Given the description of an element on the screen output the (x, y) to click on. 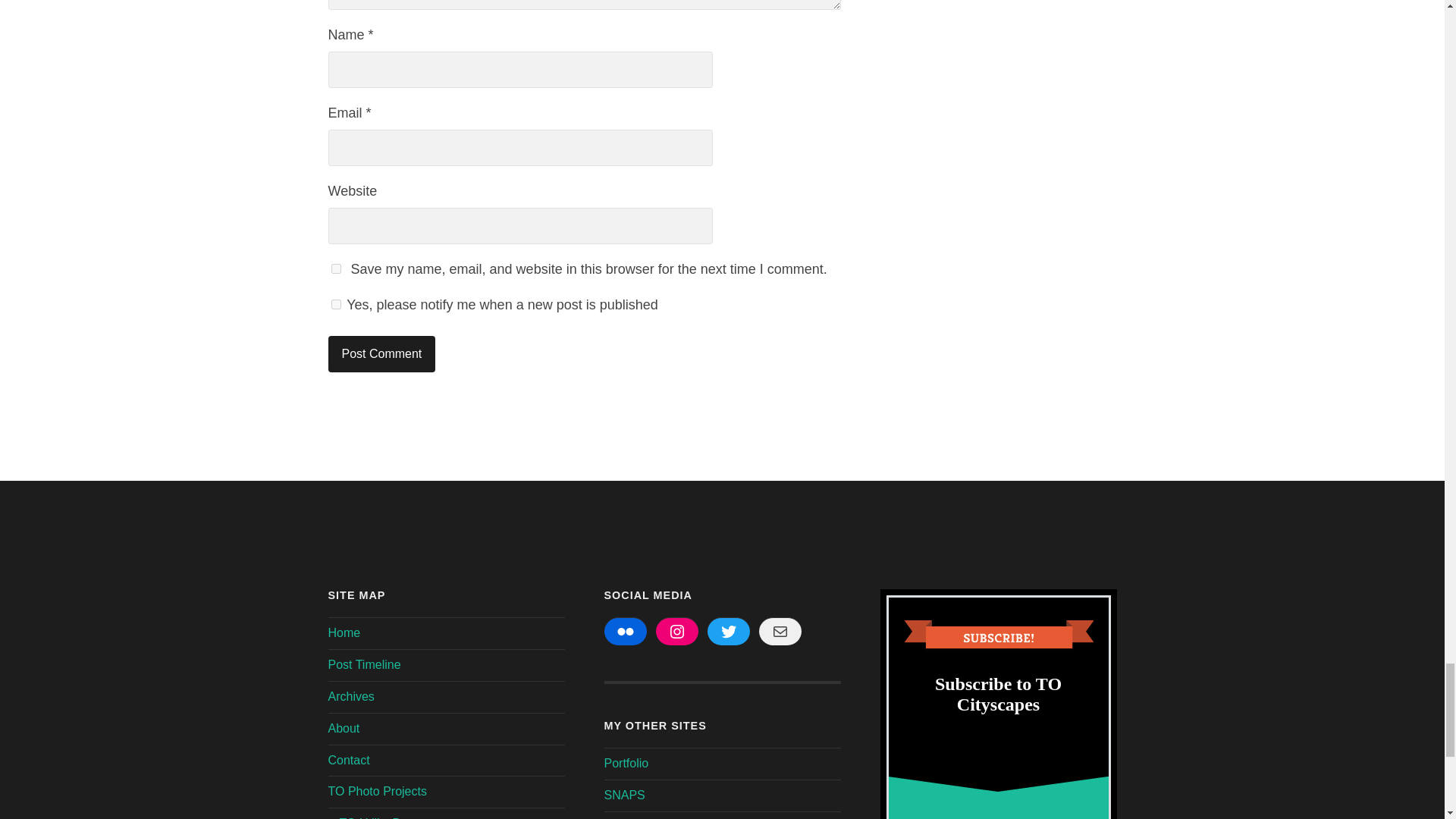
1 (335, 304)
Post Comment (381, 353)
yes (335, 268)
